Given the description of an element on the screen output the (x, y) to click on. 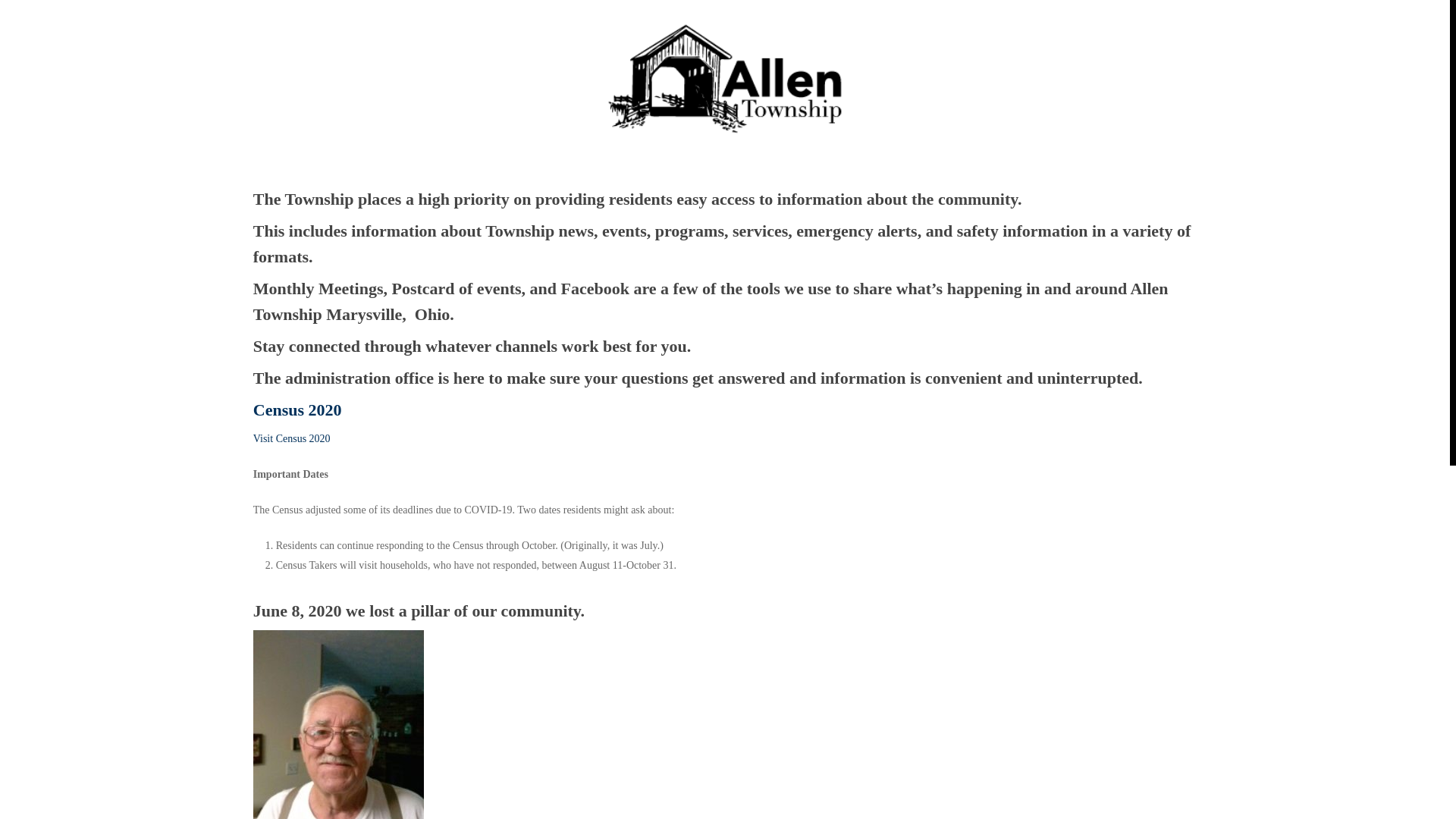
Visit Census 2020  (293, 438)
Census 2020 (297, 409)
